Given the description of an element on the screen output the (x, y) to click on. 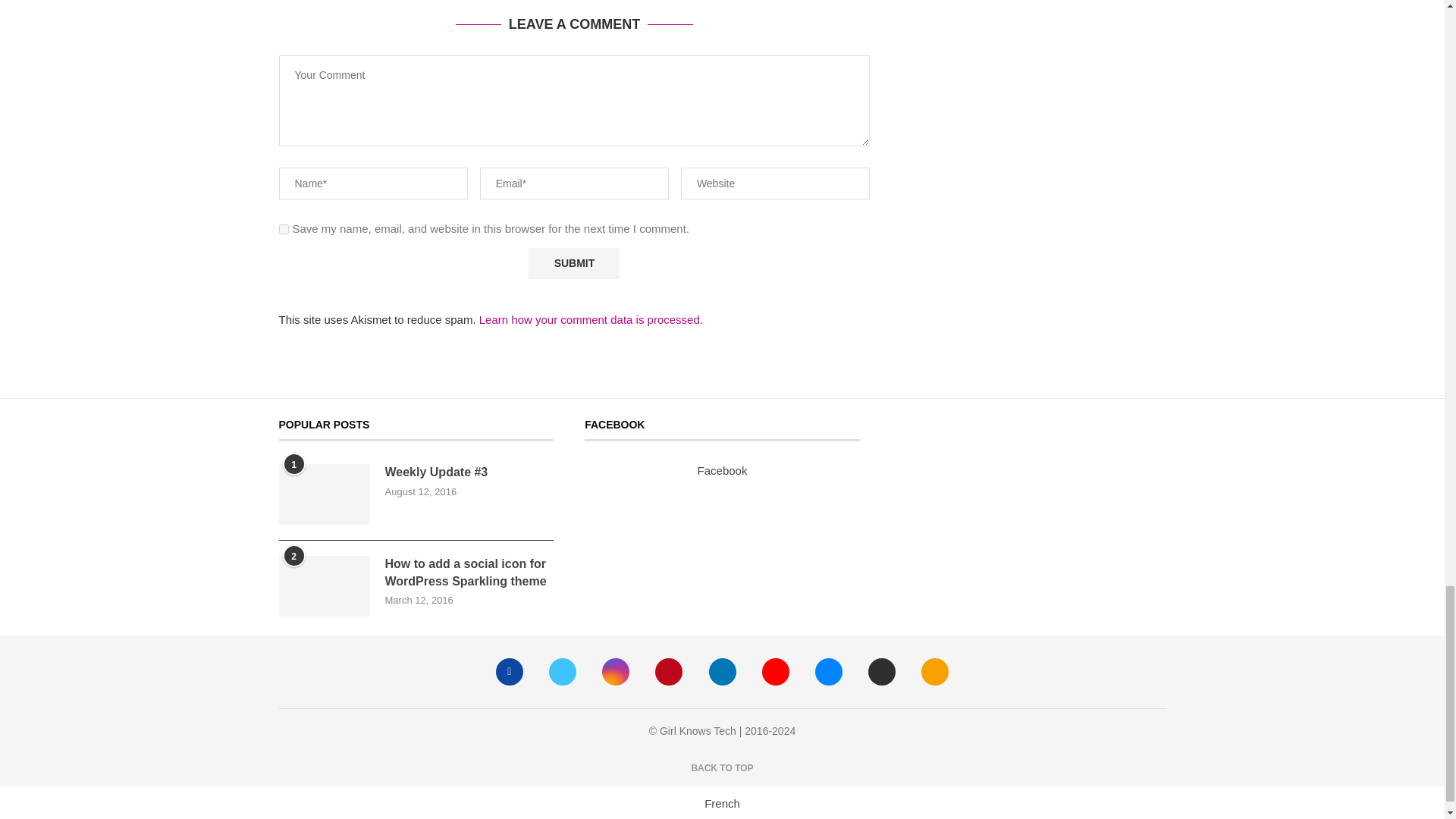
yes (283, 229)
Submit (574, 263)
